Given the description of an element on the screen output the (x, y) to click on. 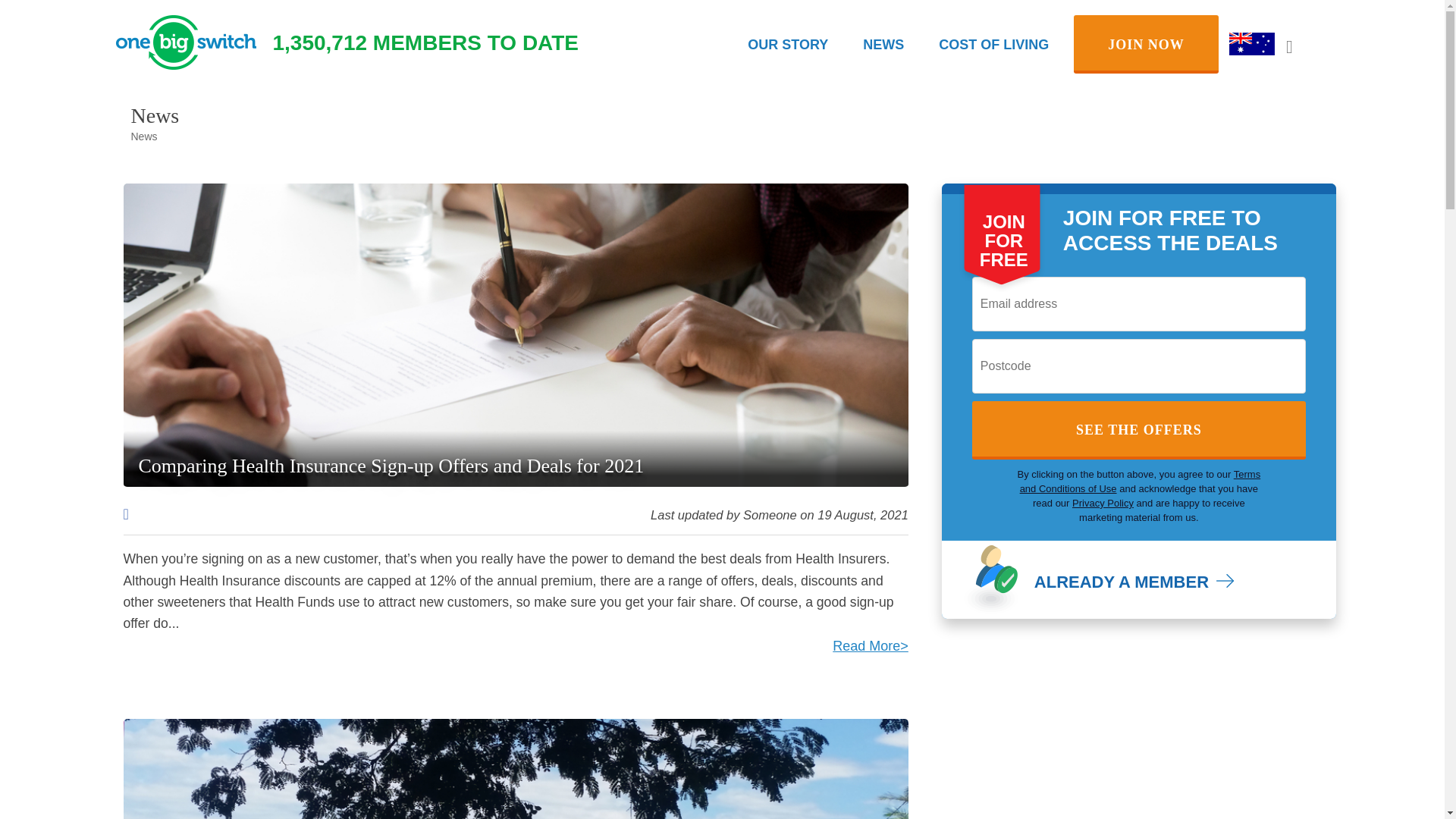
News Element type: text (143, 136)
Privacy Policy Element type: text (1102, 502)
Comparing Health Insurance Sign-up Offers and Deals for 2021 Element type: text (390, 465)
ALREADY A MEMBER Element type: text (1133, 581)
OUR STORY Element type: text (787, 44)
SEE THE OFFERS Element type: text (1138, 430)
Read More> Element type: text (870, 634)
Terms and Conditions of Use Element type: text (1140, 481)
COST OF LIVING Element type: text (993, 44)
JOIN NOW Element type: text (1145, 44)
NEWS Element type: text (882, 44)
